Given the description of an element on the screen output the (x, y) to click on. 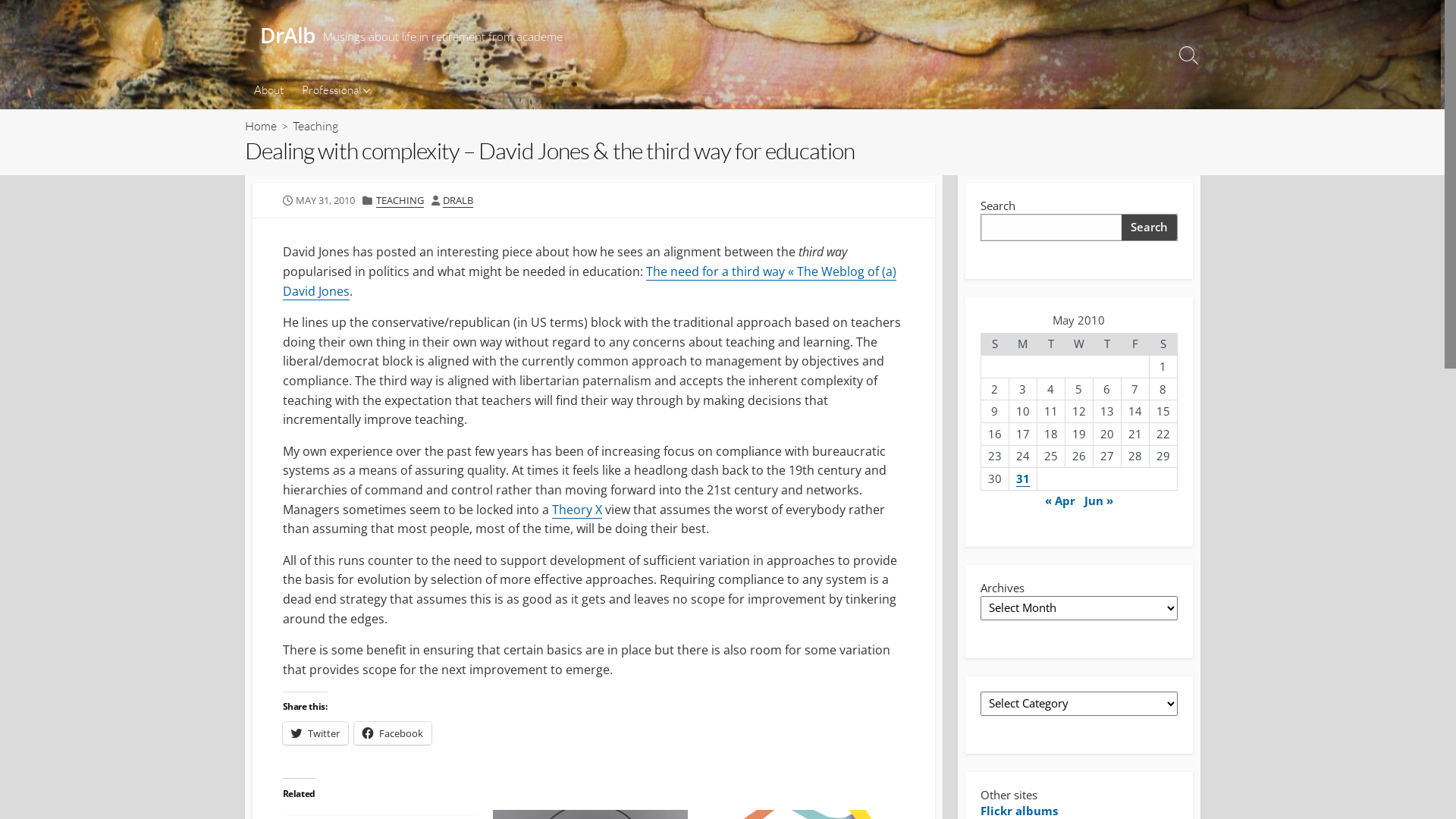
Publications Element type: text (368, 130)
Professional Element type: text (334, 90)
About Element type: text (267, 90)
DrAlb Element type: text (286, 35)
Search Toggle Element type: text (1188, 54)
31 Element type: text (1022, 478)
Theory X Element type: text (577, 509)
DRALB Element type: text (457, 200)
Home Element type: text (260, 125)
Research supervisions Element type: text (368, 157)
Qualifications & Experience Element type: text (368, 95)
Search Element type: text (1148, 226)
TEACHING Element type: text (399, 200)
Flickr albums Element type: text (1018, 810)
Teaching Element type: text (315, 125)
Twitter Element type: text (314, 732)
Facebook Element type: text (391, 732)
